Given the description of an element on the screen output the (x, y) to click on. 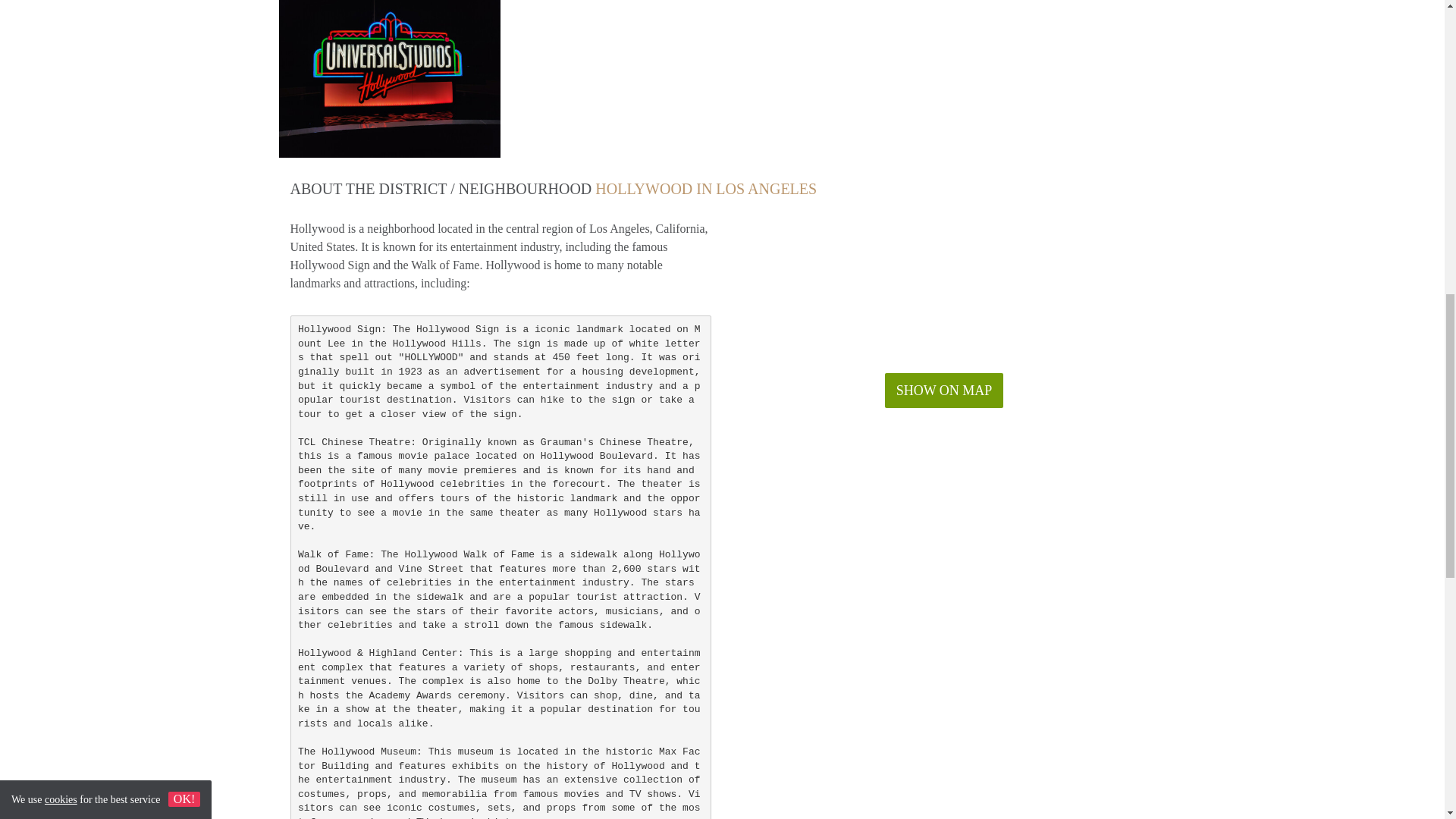
Show address on Google Maps (944, 390)
SHOW ON MAP (944, 390)
